Given the description of an element on the screen output the (x, y) to click on. 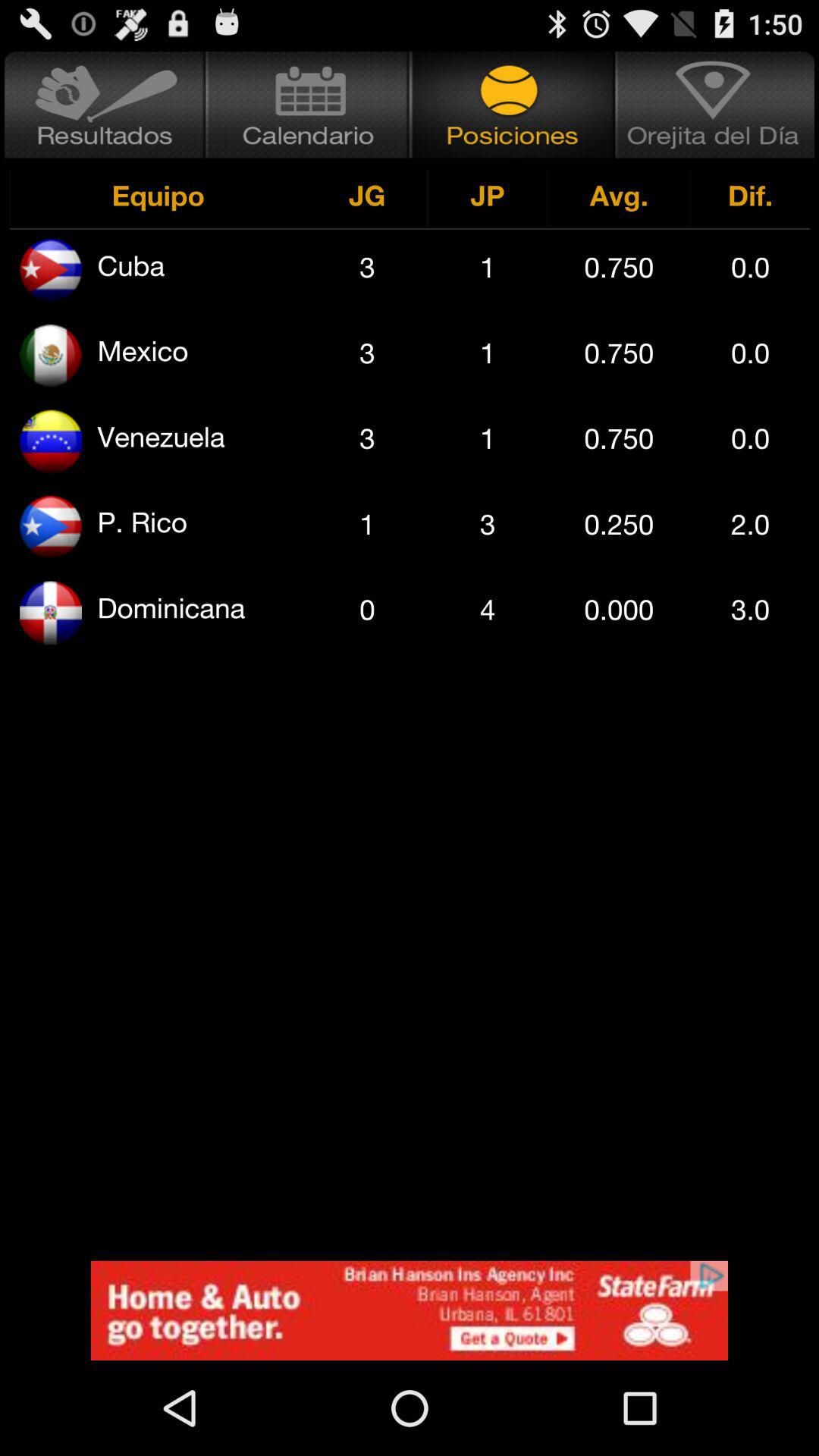
open results (102, 104)
